Given the description of an element on the screen output the (x, y) to click on. 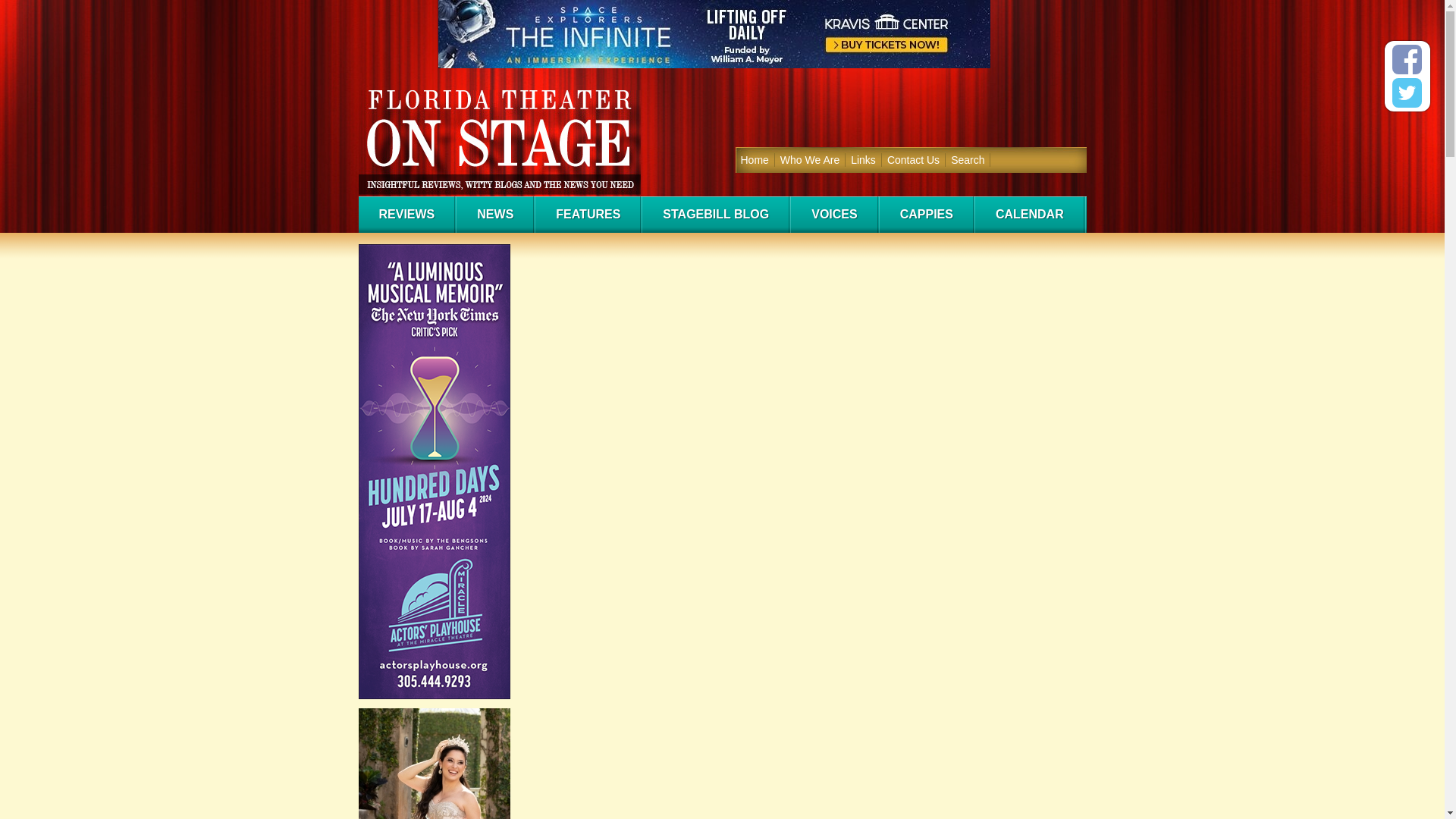
VOICES (833, 214)
Contact Us (913, 160)
STAGEBILL BLOG (715, 214)
Links (863, 160)
NEWS (494, 214)
Home (754, 160)
Who We Are (809, 160)
FEATURES (587, 214)
Visit Our Facebook Page (1406, 59)
View Our Twitter Feed (1406, 92)
CALENDAR (1029, 214)
REVIEWS (406, 214)
CAPPIES (925, 214)
Search (967, 160)
